Given the description of an element on the screen output the (x, y) to click on. 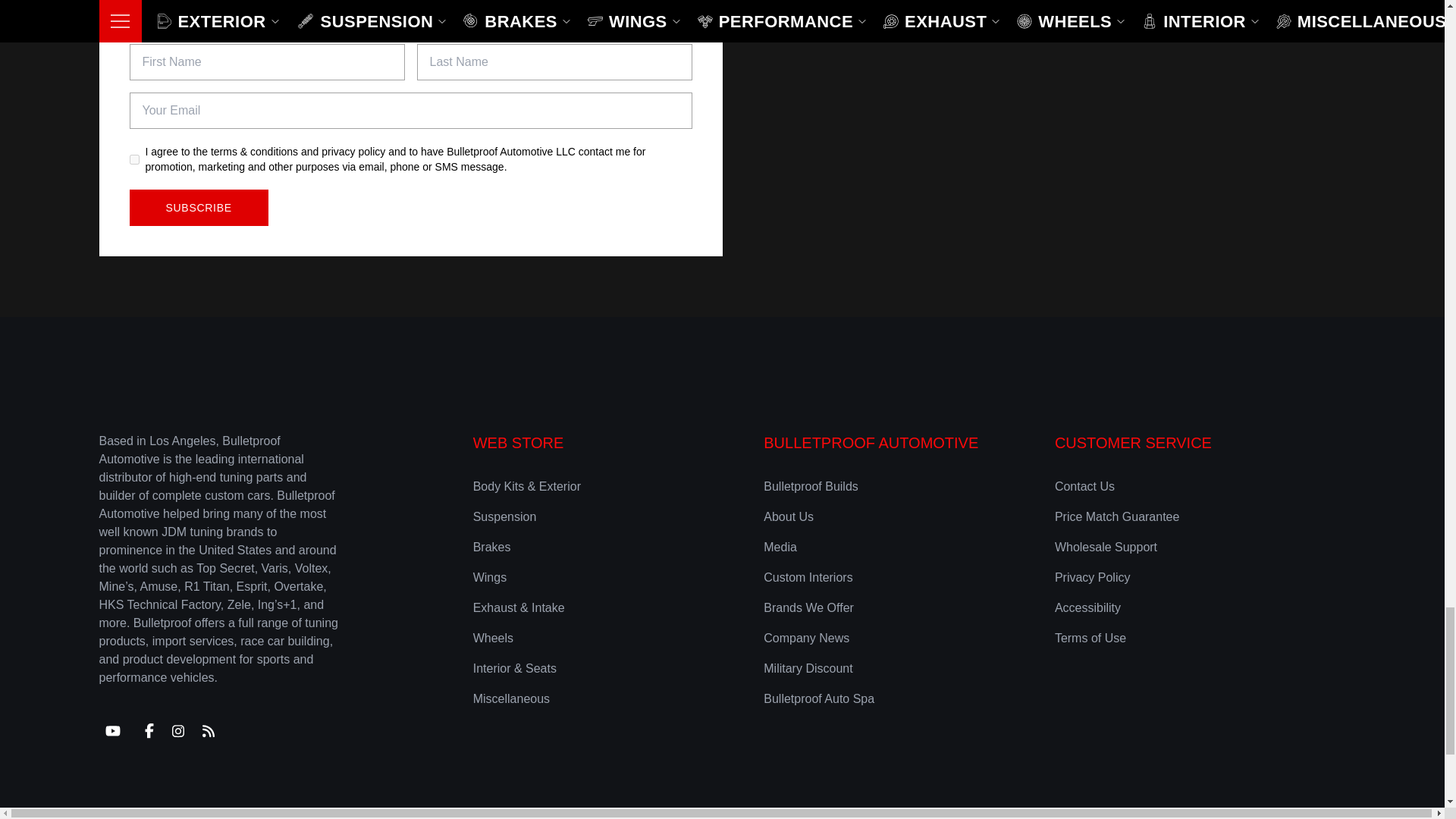
YouTube (112, 730)
RSS Feed (207, 730)
on (133, 159)
Instagram (177, 730)
